Given the description of an element on the screen output the (x, y) to click on. 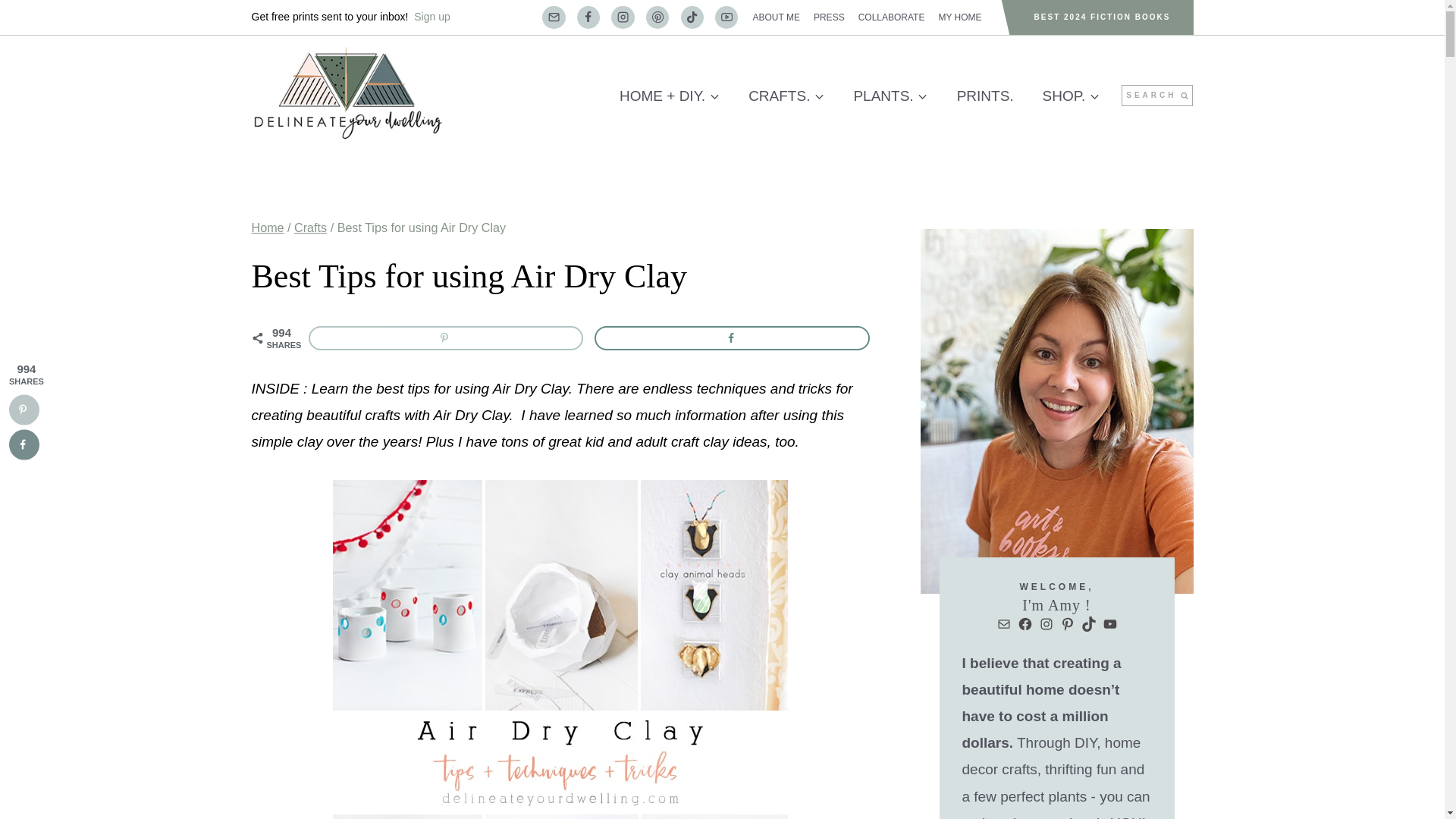
COLLABORATE (891, 17)
Shop (1071, 95)
PLANTS. (890, 95)
Share on Facebook (23, 444)
Sign up (431, 16)
BEST 2024 FICTION BOOKS (1102, 17)
PRINTS. (984, 95)
SHOP. (1071, 95)
Save to Pinterest (23, 409)
PRESS (828, 17)
